Given the description of an element on the screen output the (x, y) to click on. 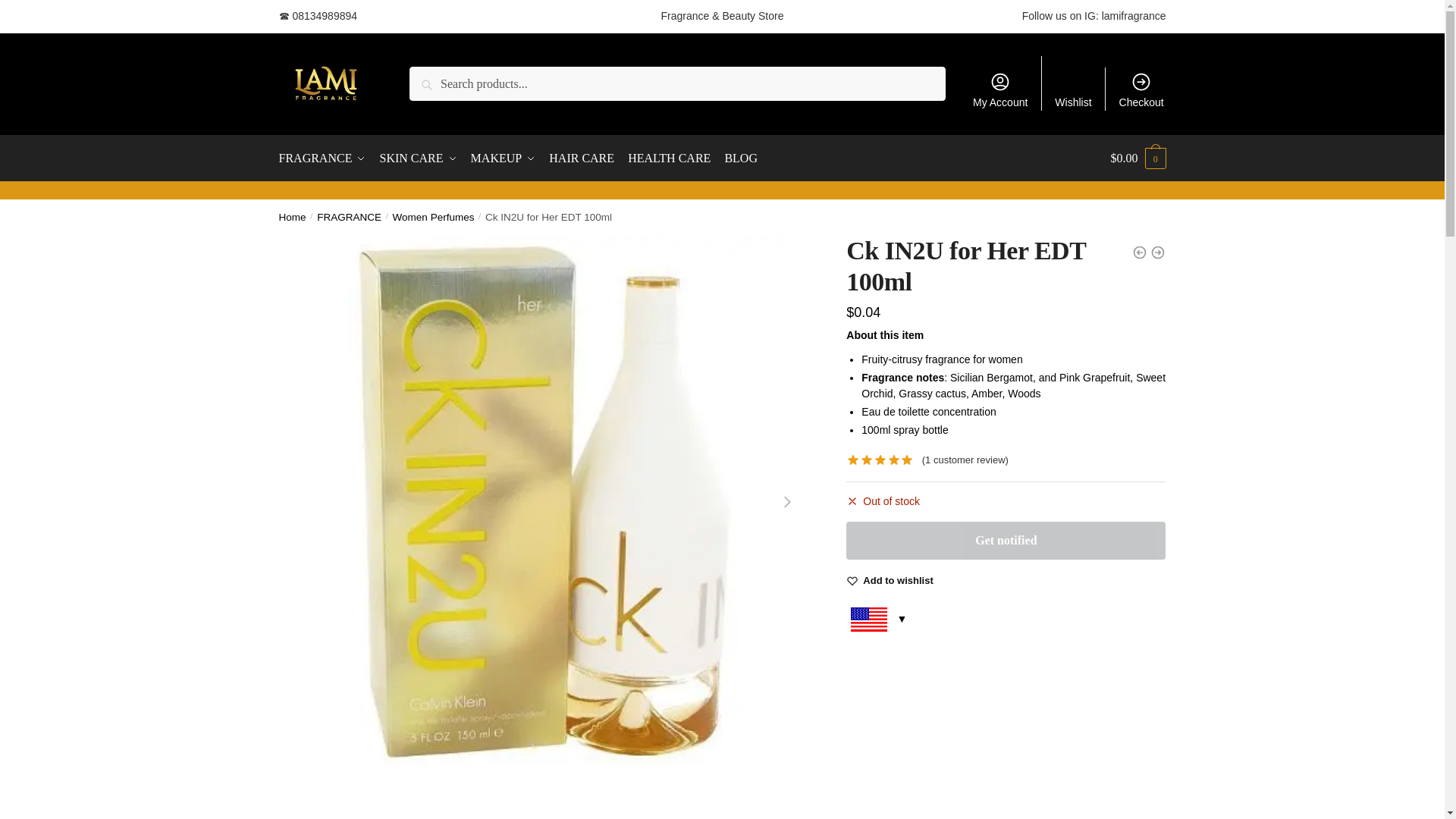
View your shopping cart (1137, 157)
Please select your currency (876, 624)
Wishlist (898, 580)
Get notified (1005, 540)
FRAGRANCE (325, 157)
Search (430, 76)
SKIN CARE (418, 157)
Wishlist (1072, 83)
Checkout (1141, 89)
My Account (999, 89)
